Given the description of an element on the screen output the (x, y) to click on. 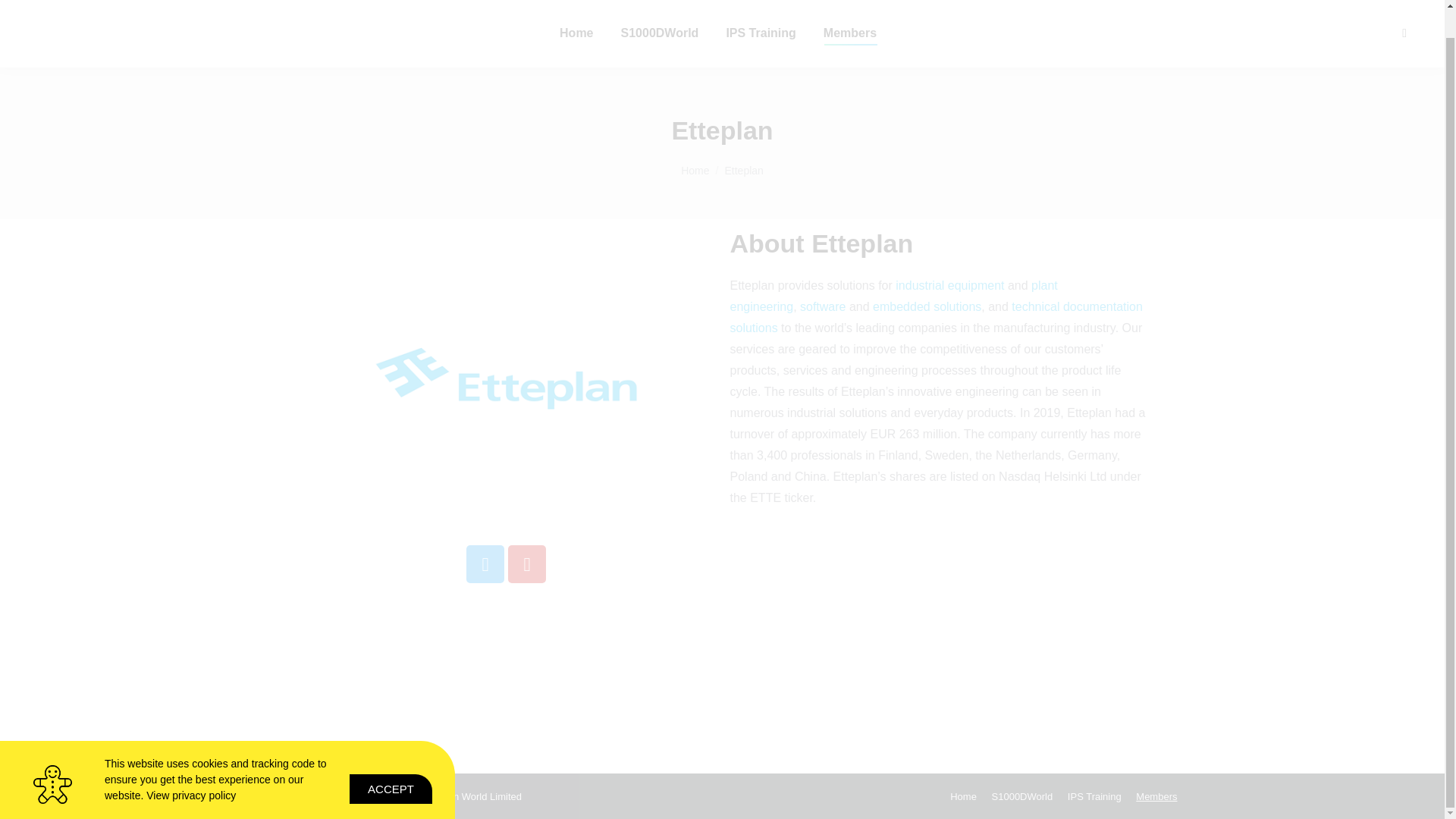
S1000DWorld (659, 33)
Home (575, 33)
Go! (24, 2)
IPS Training (759, 33)
Members (850, 33)
